Given the description of an element on the screen output the (x, y) to click on. 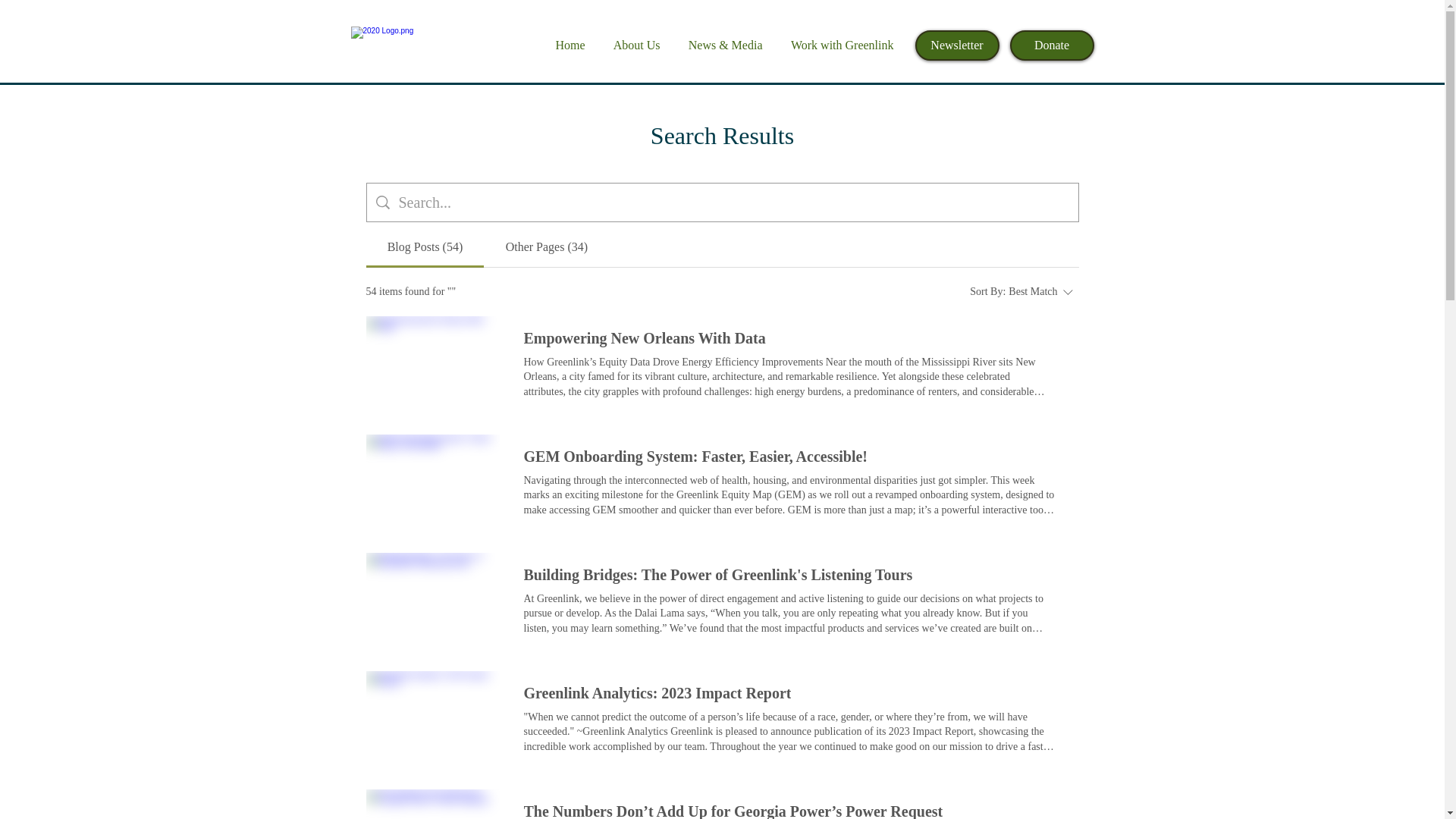
Donate (1052, 45)
GEM Onboarding System: Faster, Easier, Accessible! (694, 455)
Building Bridges: The Power of Greenlink's Listening Tours (717, 574)
Building Bridges: The Power of Greenlink's Listening Tours (432, 599)
Greenlink Analytics: 2023 Impact Report (656, 692)
Empowering New Orleans With Data (643, 337)
Empowering New Orleans With Data (432, 363)
Greenlink Analytics: 2023 Impact Report (656, 692)
Newsletter (956, 45)
GEM Onboarding System: Faster, Easier, Accessible! (694, 455)
Work with Greenlink (838, 44)
Home (566, 44)
Building Bridges: The Power of Greenlink's Listening Tours (717, 574)
Empowering New Orleans With Data (643, 337)
About Us (633, 44)
